Given the description of an element on the screen output the (x, y) to click on. 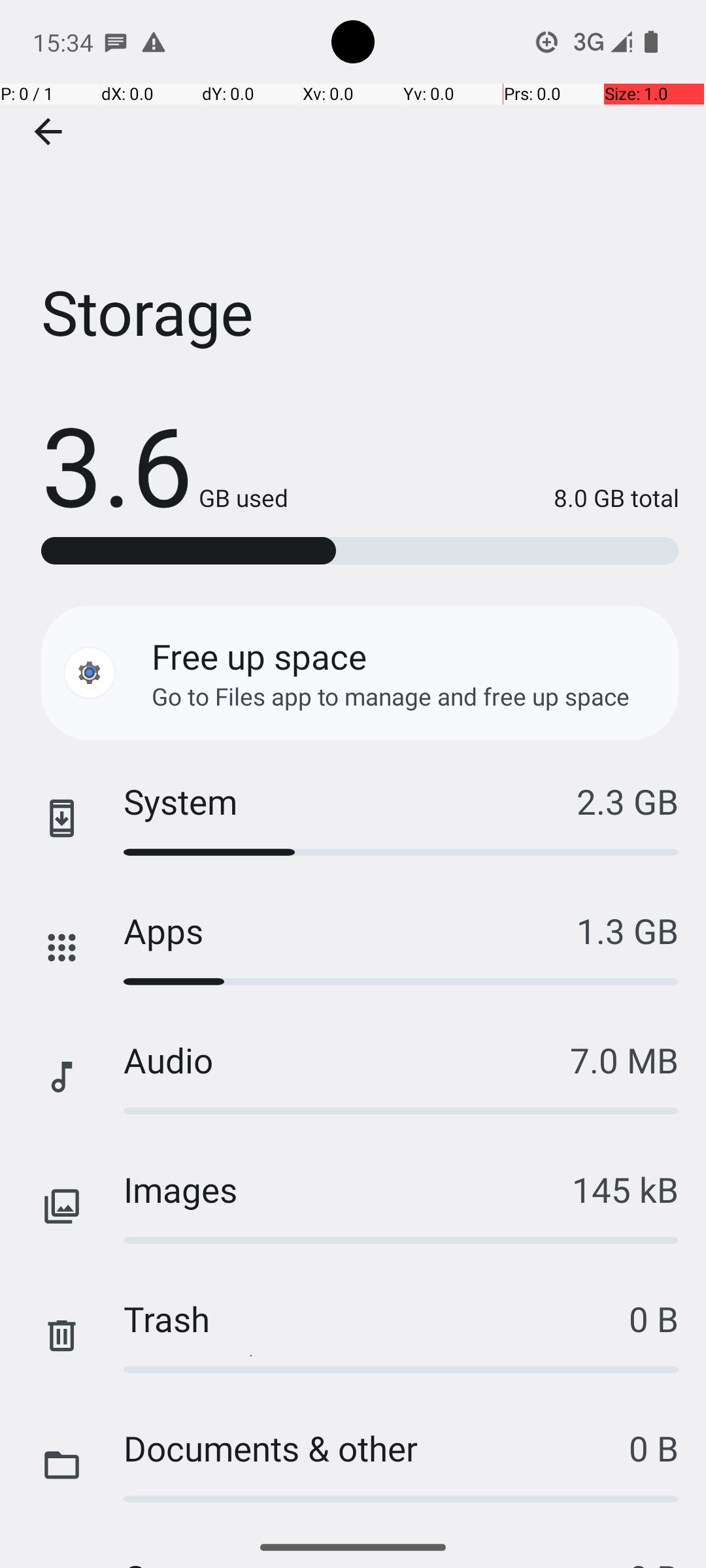
Storage Element type: android.widget.FrameLayout (353, 195)
3.6 GB used Element type: android.widget.TextView (164, 463)
8.0 GB total Element type: android.widget.TextView (483, 497)
Free up space Element type: android.widget.TextView (258, 656)
Go to Files app to manage and free up space Element type: android.widget.TextView (390, 695)
2.3 GB Element type: android.widget.TextView (627, 801)
1.3 GB Element type: android.widget.TextView (627, 930)
7.0 MB Element type: android.widget.TextView (624, 1059)
145 kB Element type: android.widget.TextView (624, 1189)
Trash Element type: android.widget.TextView (375, 1318)
0 B Element type: android.widget.TextView (653, 1318)
Documents & other Element type: android.widget.TextView (375, 1447)
